Given the description of an element on the screen output the (x, y) to click on. 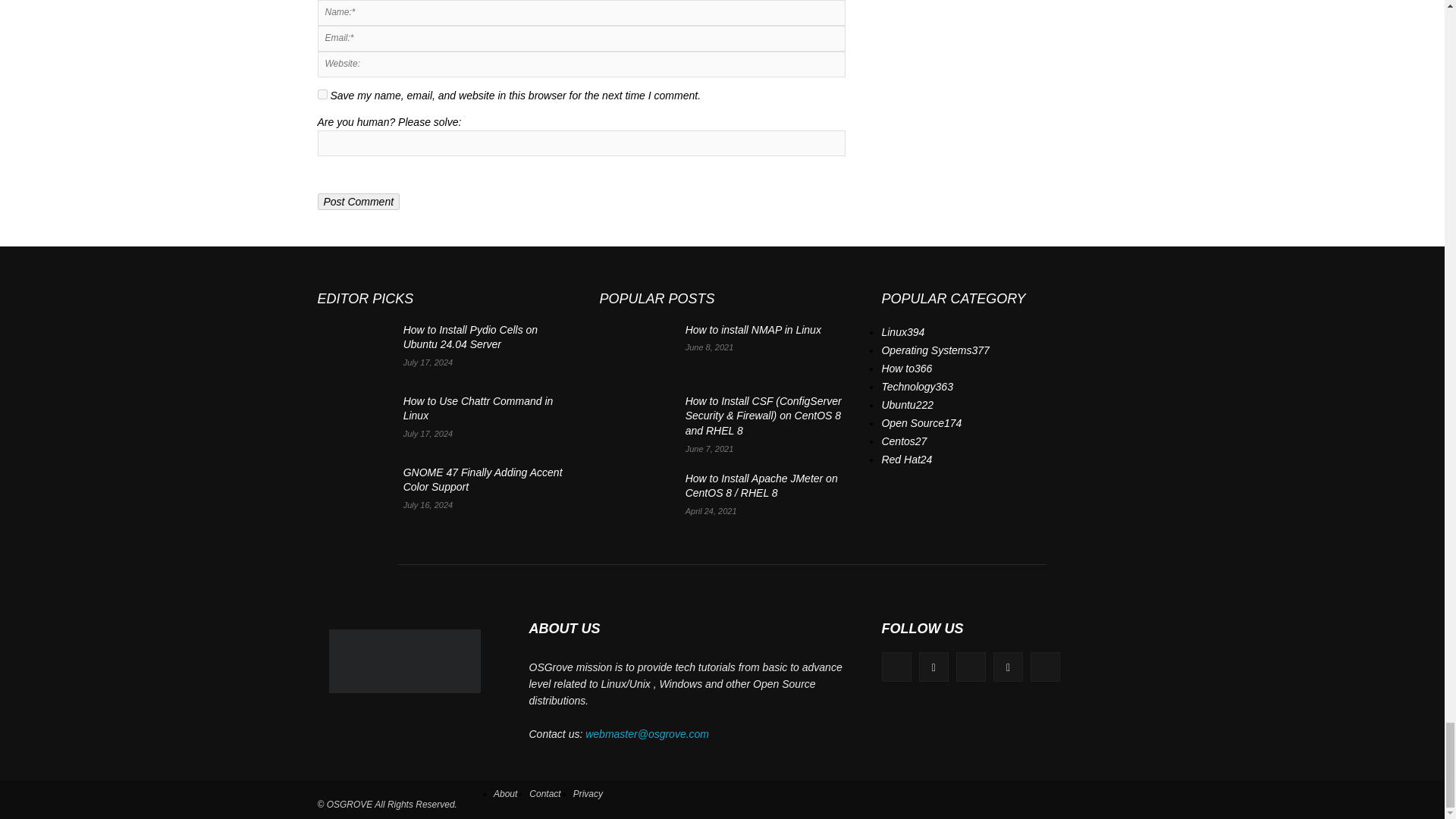
yes (321, 94)
Post Comment (357, 201)
